Given the description of an element on the screen output the (x, y) to click on. 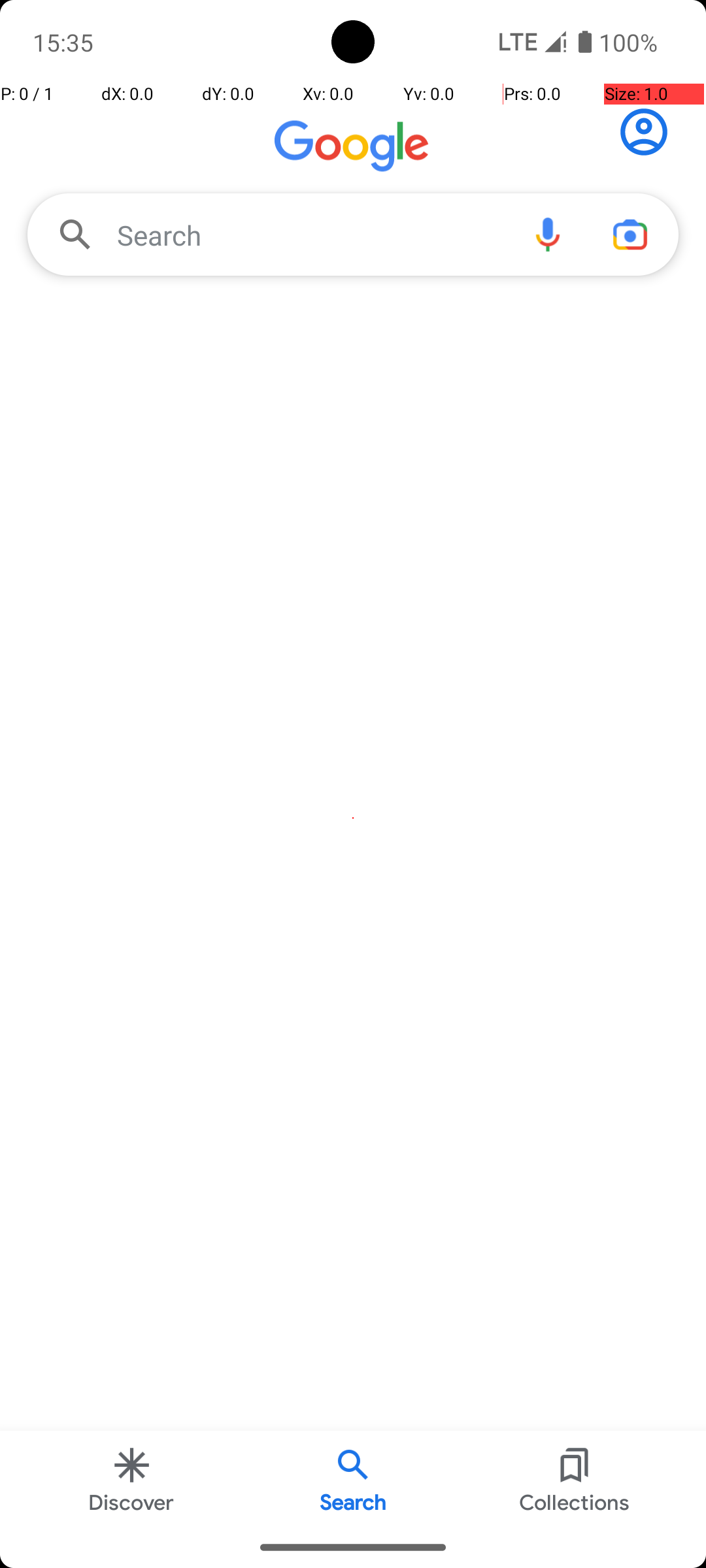
Go to Discover Element type: android.widget.ImageView (352, 148)
